Given the description of an element on the screen output the (x, y) to click on. 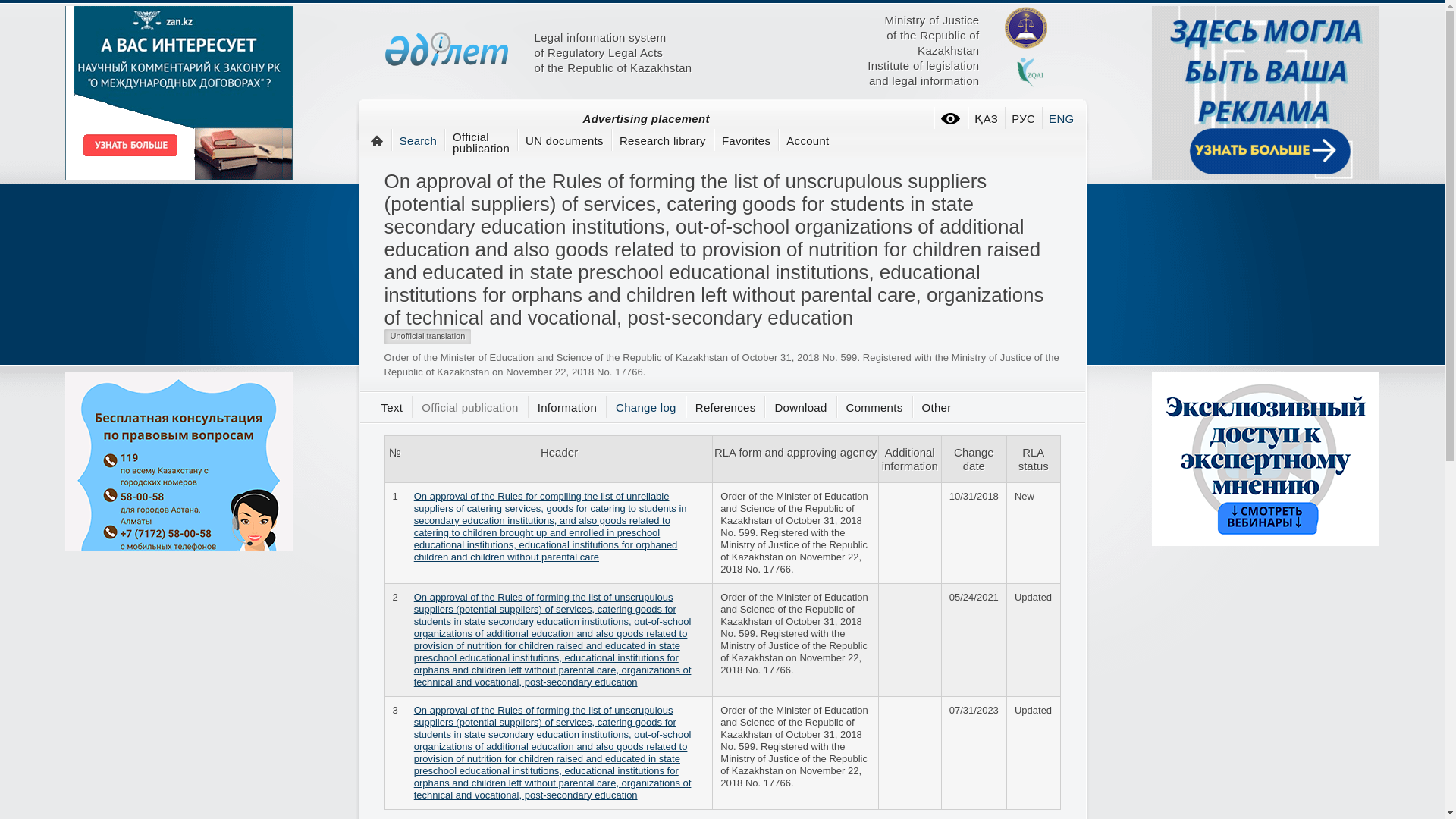
UN documents (938, 72)
Comments (564, 141)
Download (874, 408)
Home (800, 408)
Account (480, 143)
Text (378, 139)
ENG (804, 141)
Information (391, 408)
